Given the description of an element on the screen output the (x, y) to click on. 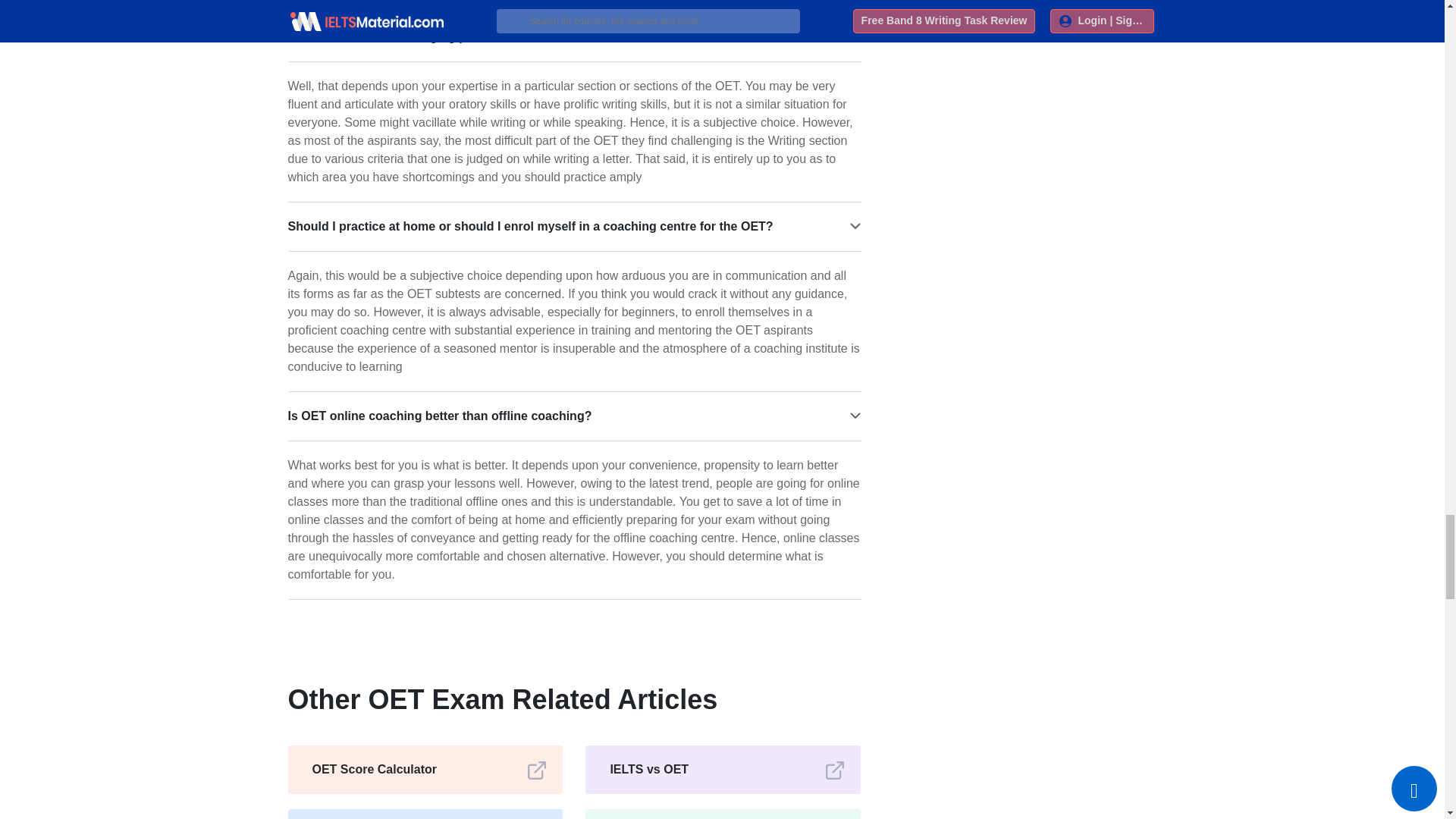
OET Score Calculator (425, 769)
IELTS vs OET (722, 769)
OET Exam Fees (722, 814)
OET Exam Booking (425, 814)
